Given the description of an element on the screen output the (x, y) to click on. 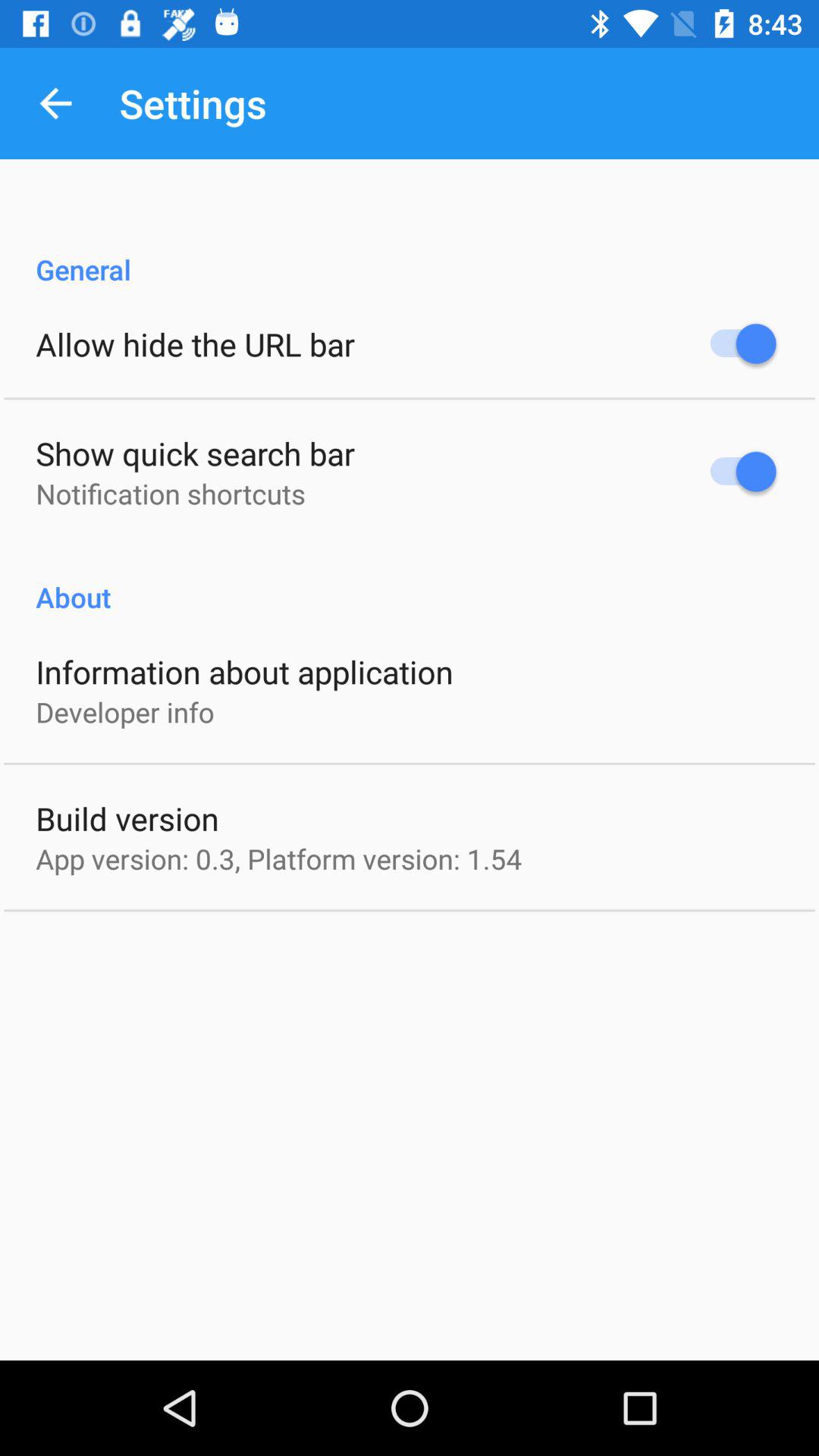
turn off the item next to the settings item (55, 103)
